Given the description of an element on the screen output the (x, y) to click on. 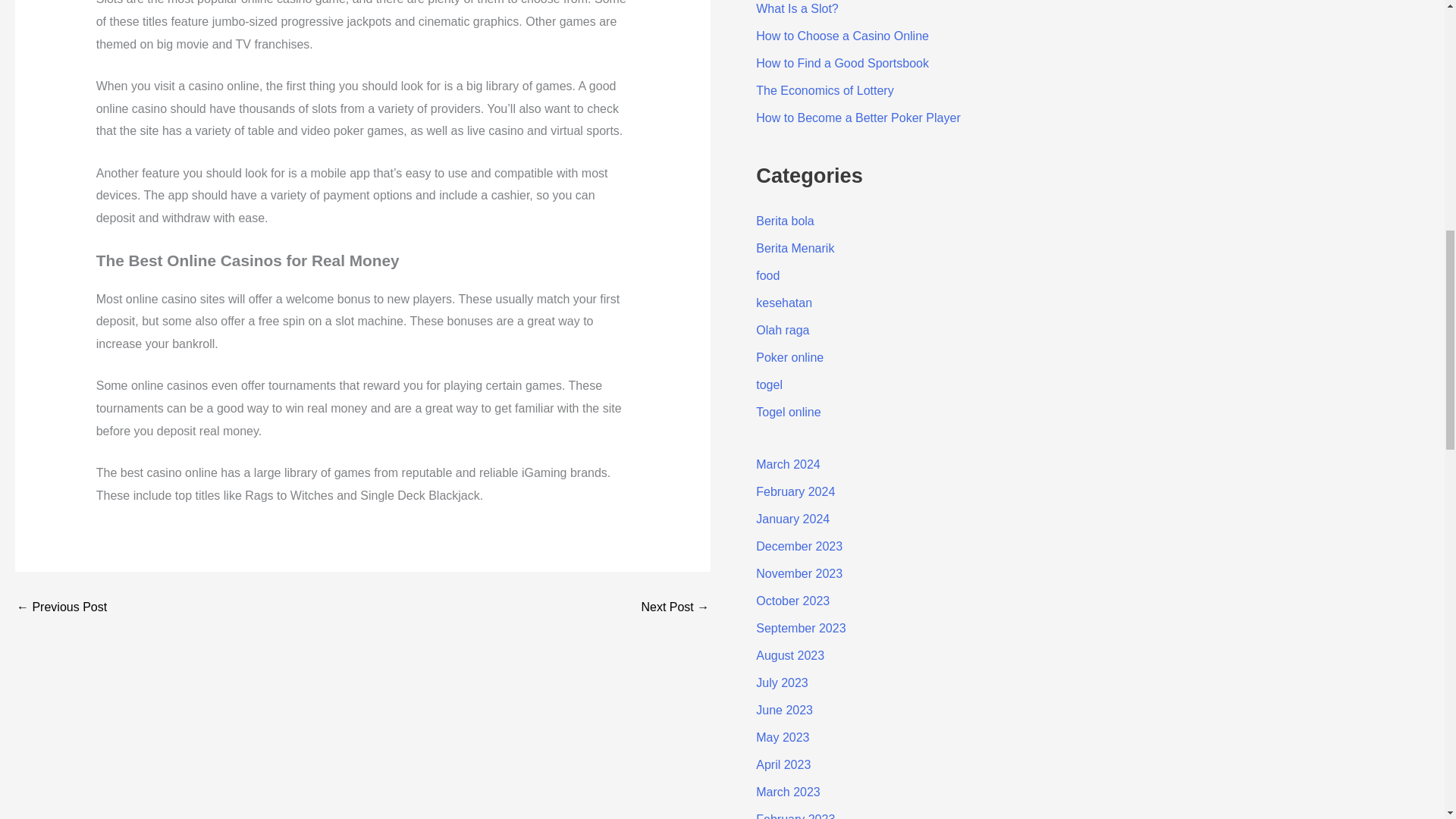
How to Become a Better Poker Player (857, 117)
The Economics of Lottery (824, 90)
January 2024 (792, 518)
Togel online (788, 411)
December 2023 (799, 545)
November 2023 (799, 573)
kesehatan (783, 302)
February 2024 (794, 491)
Choosing a Slot (674, 607)
Olah raga (782, 329)
togel (769, 384)
Poker online (789, 357)
How to Find a Good Sportsbook (841, 62)
March 2024 (788, 463)
What Is a Slot? (796, 8)
